Given the description of an element on the screen output the (x, y) to click on. 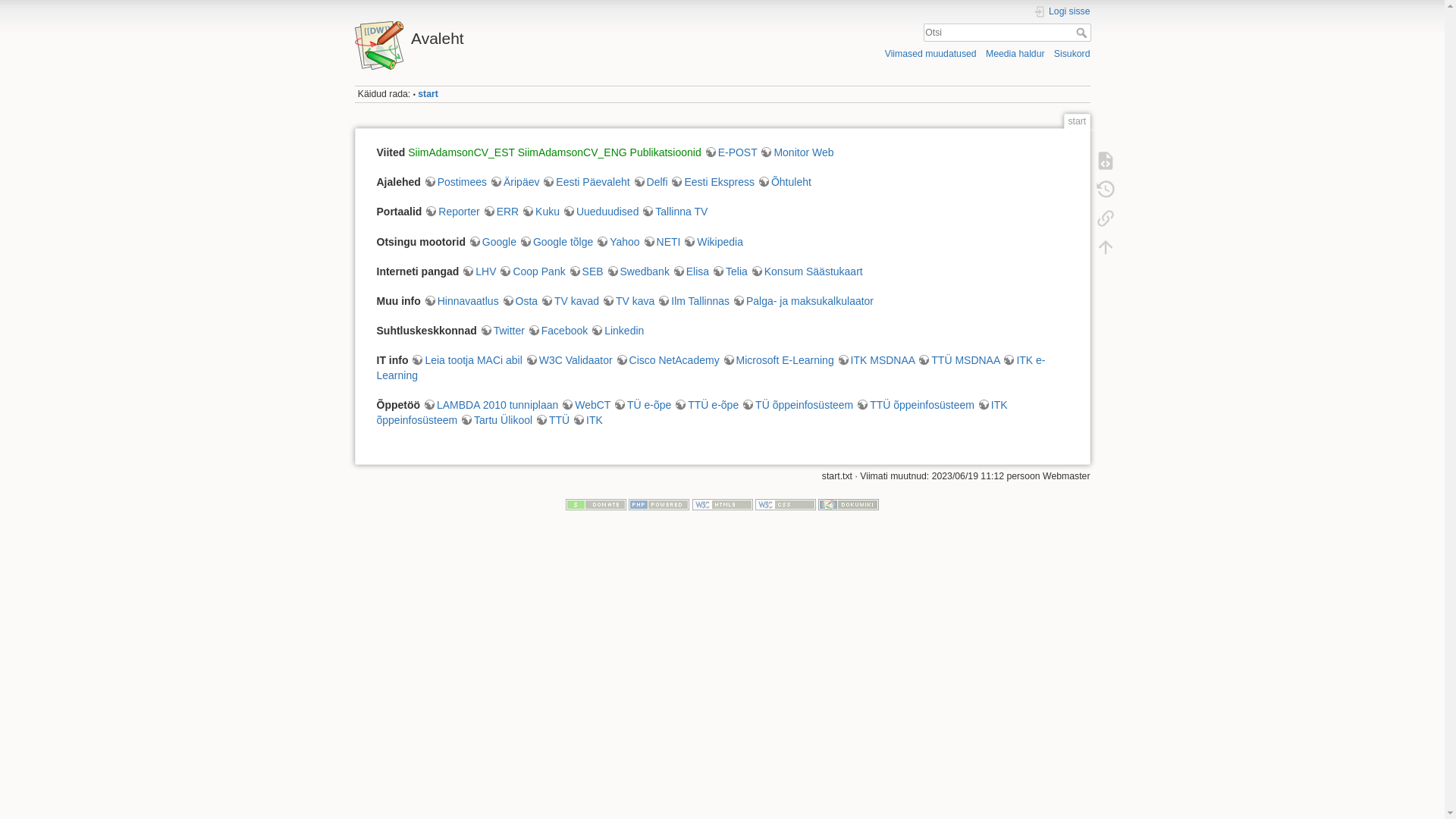
Viimased muudatused Element type: text (930, 53)
Wikipedia Element type: text (713, 241)
Microsoft E-Learning Element type: text (778, 360)
Yahoo Element type: text (617, 241)
Otsi Element type: text (1082, 32)
Monitor Web Element type: text (796, 152)
WebCT Element type: text (585, 404)
Powered by PHP Element type: hover (658, 503)
Cisco NetAcademy Element type: text (667, 360)
SiimAdamsonCV_EST Element type: text (460, 152)
Donate Element type: hover (595, 503)
TV kavad Element type: text (569, 300)
ERR Element type: text (501, 211)
Palga- ja maksukalkulaator Element type: text (802, 300)
Sisukord Element type: text (1072, 53)
Tallinna TV Element type: text (674, 211)
LHV Element type: text (478, 271)
LAMBDA 2010 tunniplaan Element type: text (490, 404)
ITK MSDNAA Element type: text (876, 360)
Publikatsioonid Element type: text (665, 152)
NETI Element type: text (661, 241)
Coop Pank Element type: text (531, 271)
Facebook Element type: text (557, 330)
Valid CSS Element type: hover (785, 503)
Tagasilingid Element type: hover (1104, 217)
E-POST Element type: text (730, 152)
SiimAdamsonCV_ENG Element type: text (572, 152)
Avaleht Element type: text (534, 34)
Reporter Element type: text (451, 211)
Postimees Element type: text (454, 181)
Ilm Tallinnas Element type: text (693, 300)
Logi sisse Element type: text (1061, 11)
Google Element type: text (492, 241)
Tagasi lehe algusesse [t] Element type: hover (1104, 246)
Valid HTML5 Element type: hover (721, 503)
Elisa Element type: text (690, 271)
W3C Validaator Element type: text (568, 360)
ITK e-Learning Element type: text (710, 367)
Delfi Element type: text (650, 181)
Twitter Element type: text (502, 330)
Osta Element type: text (520, 300)
Swedbank Element type: text (637, 271)
[F] Element type: hover (1007, 32)
Kuku Element type: text (540, 211)
Hinnavaatlus Element type: text (460, 300)
TV kava Element type: text (628, 300)
Linkedin Element type: text (616, 330)
Eelmised versioonid [o] Element type: hover (1104, 189)
start Element type: text (427, 93)
Telia Element type: text (729, 271)
Uueduudised Element type: text (600, 211)
Driven by DokuWiki Element type: hover (848, 503)
ITK Element type: text (587, 420)
Eesti Ekspress Element type: text (712, 181)
SEB Element type: text (585, 271)
Meedia haldur Element type: text (1014, 53)
Leia tootja MACi abil Element type: text (466, 360)
